Given the description of an element on the screen output the (x, y) to click on. 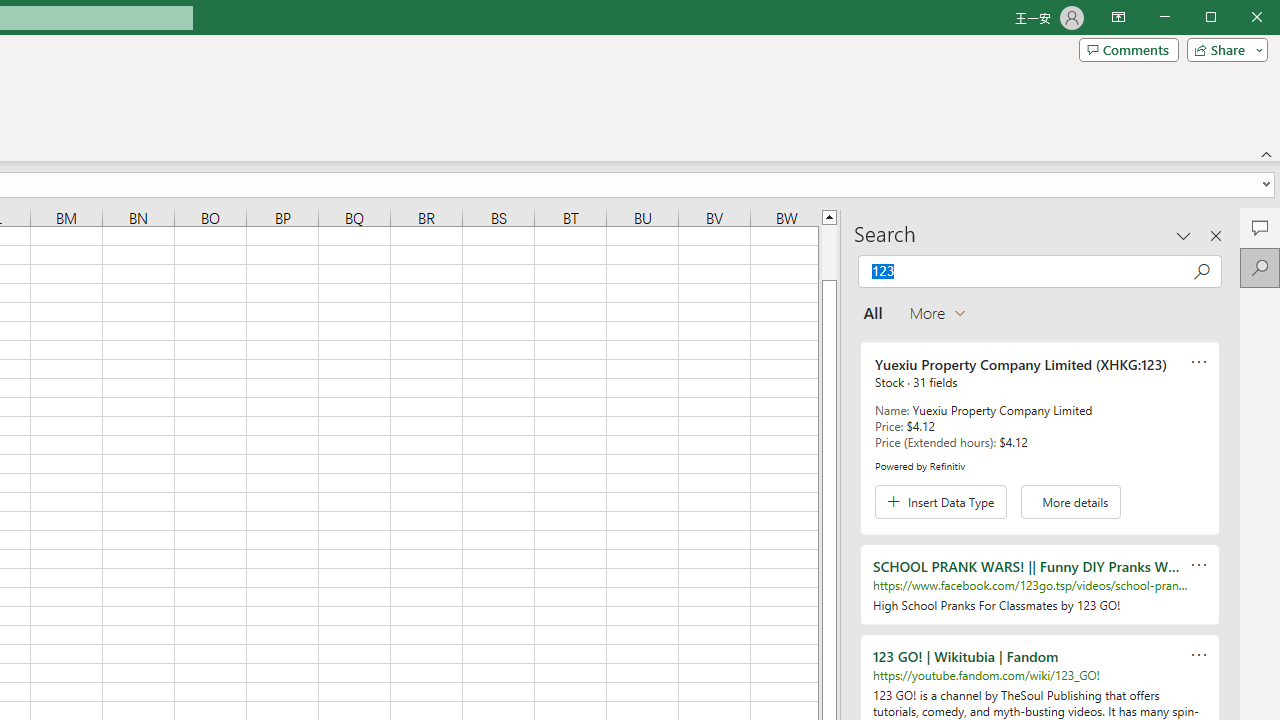
Maximize (1239, 18)
Ribbon Display Options (1118, 17)
Search (1260, 267)
Comments (1260, 227)
Close pane (1215, 235)
Share (1223, 49)
Collapse the Ribbon (1267, 154)
Close (1261, 18)
Comments (1128, 49)
Line up (829, 216)
Minimize (1217, 18)
Page up (829, 252)
Task Pane Options (1183, 235)
